Given the description of an element on the screen output the (x, y) to click on. 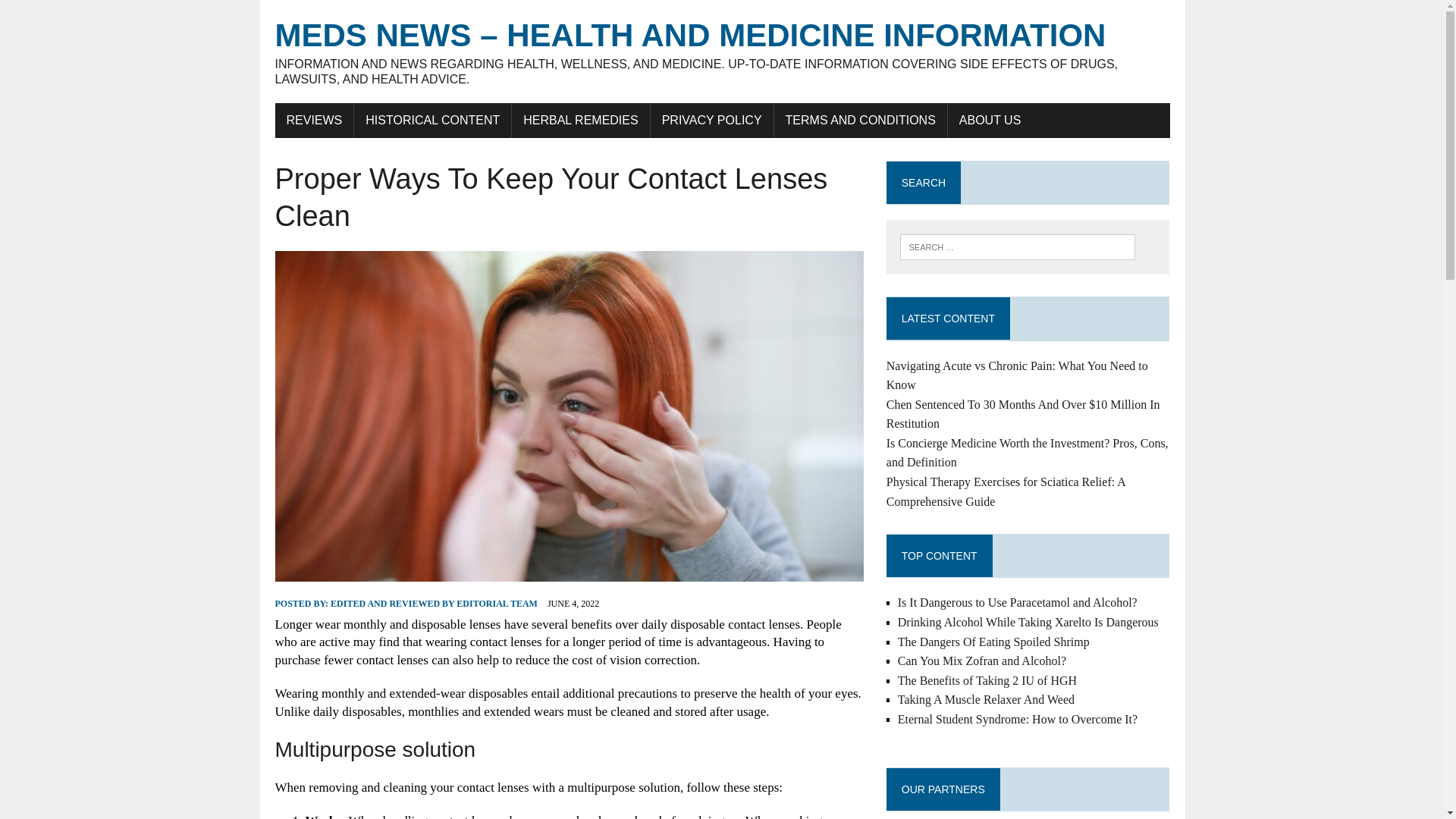
The Benefits of Taking 2 IU of HGH (987, 680)
REVIEWS (314, 120)
Eternal Student Syndrome: How to Overcome It? (1017, 718)
TERMS AND CONDITIONS (860, 120)
Taking A Muscle Relaxer And Weed (986, 698)
Can You Mix Zofran and Alcohol? (981, 660)
Navigating Acute vs Chronic Pain: What You Need to Know (1017, 375)
ABOUT US (989, 120)
HERBAL REMEDIES (580, 120)
Drinking Alcohol While Taking Xarelto Is Dangerous (1028, 621)
HISTORICAL CONTENT (432, 120)
PRIVACY POLICY (711, 120)
EDITED AND REVIEWED BY EDITORIAL TEAM (433, 603)
